Given the description of an element on the screen output the (x, y) to click on. 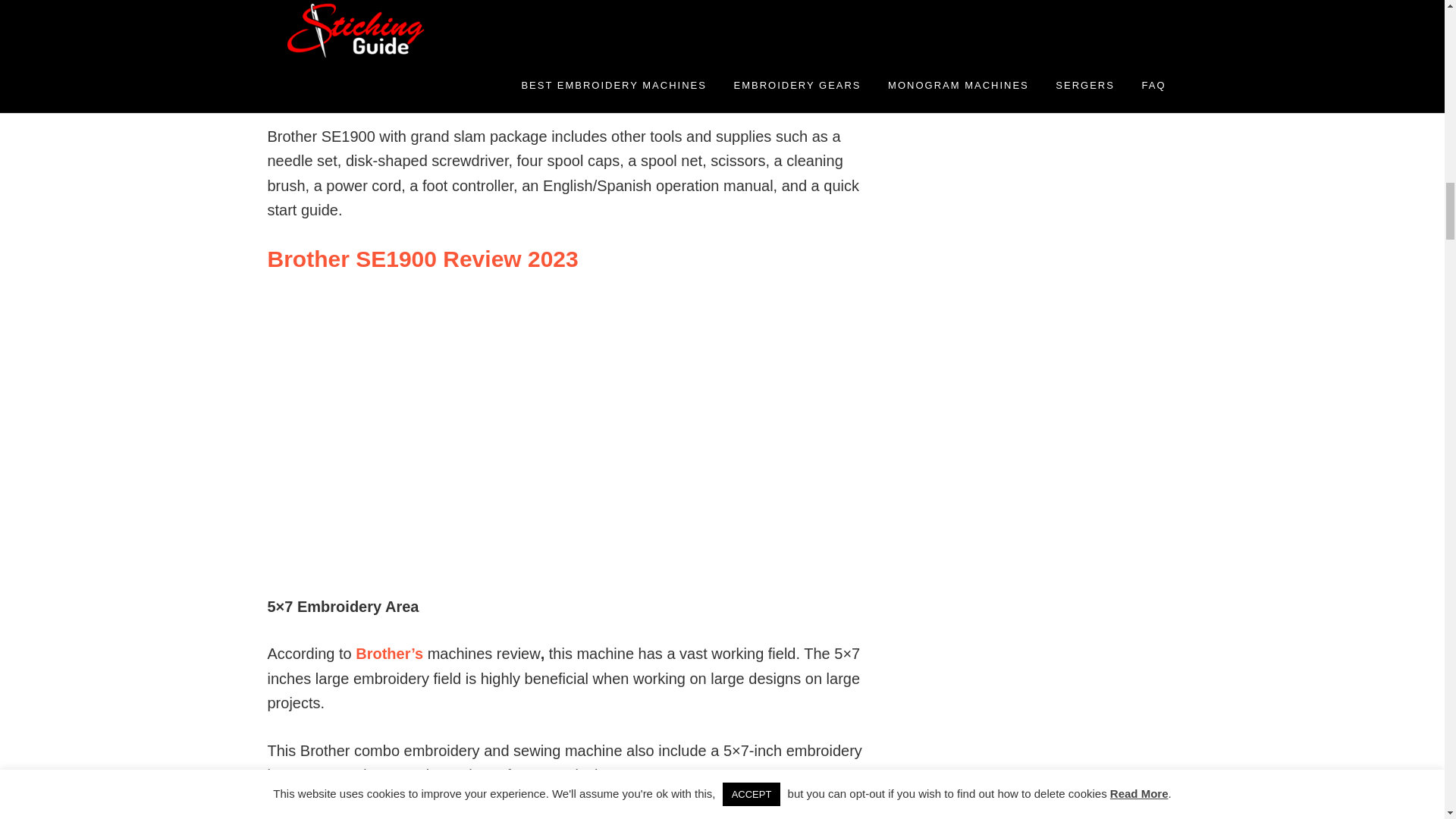
Brother SE1900 Review 2023 (422, 258)
